Given the description of an element on the screen output the (x, y) to click on. 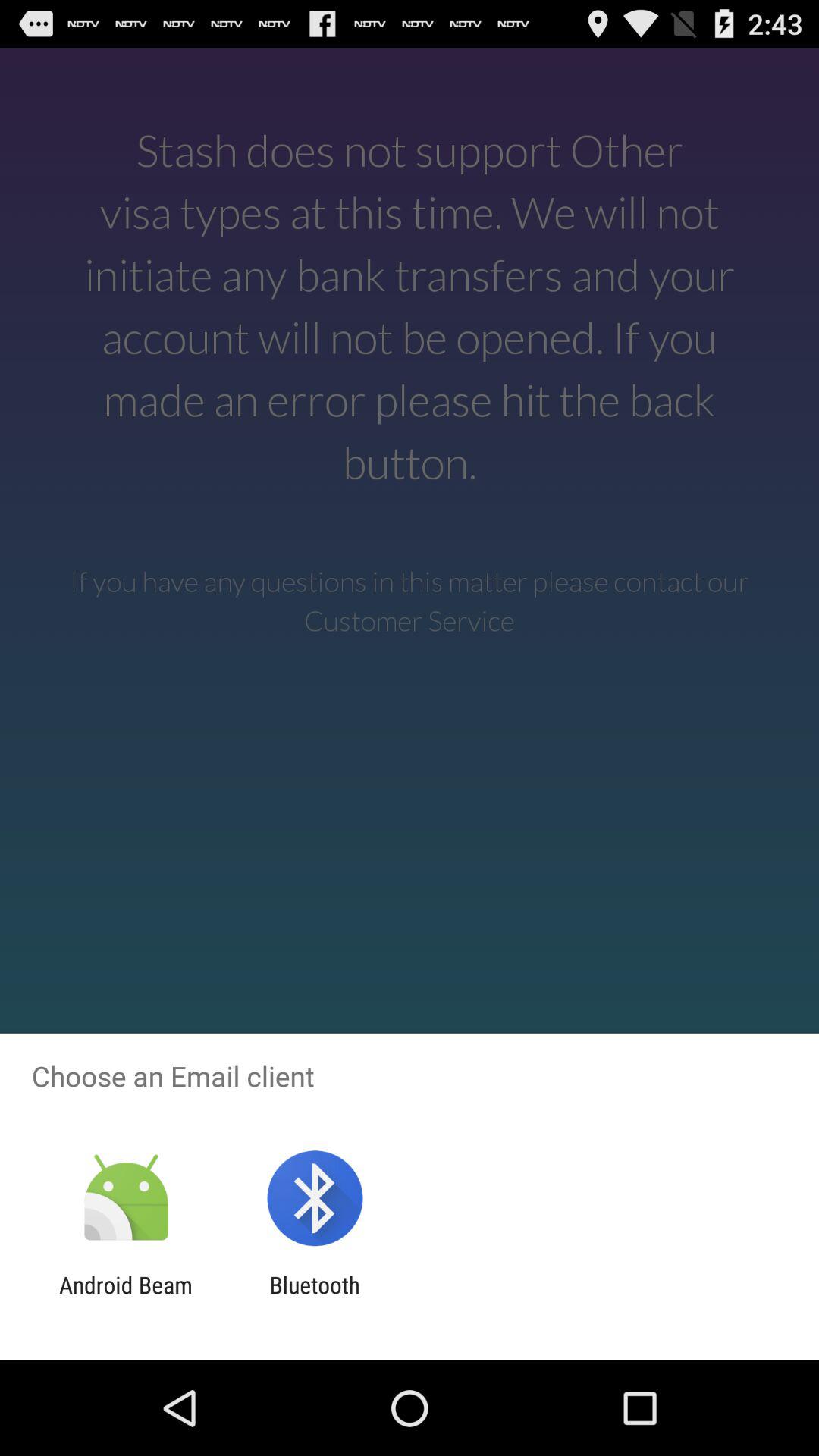
scroll to the android beam icon (125, 1298)
